Given the description of an element on the screen output the (x, y) to click on. 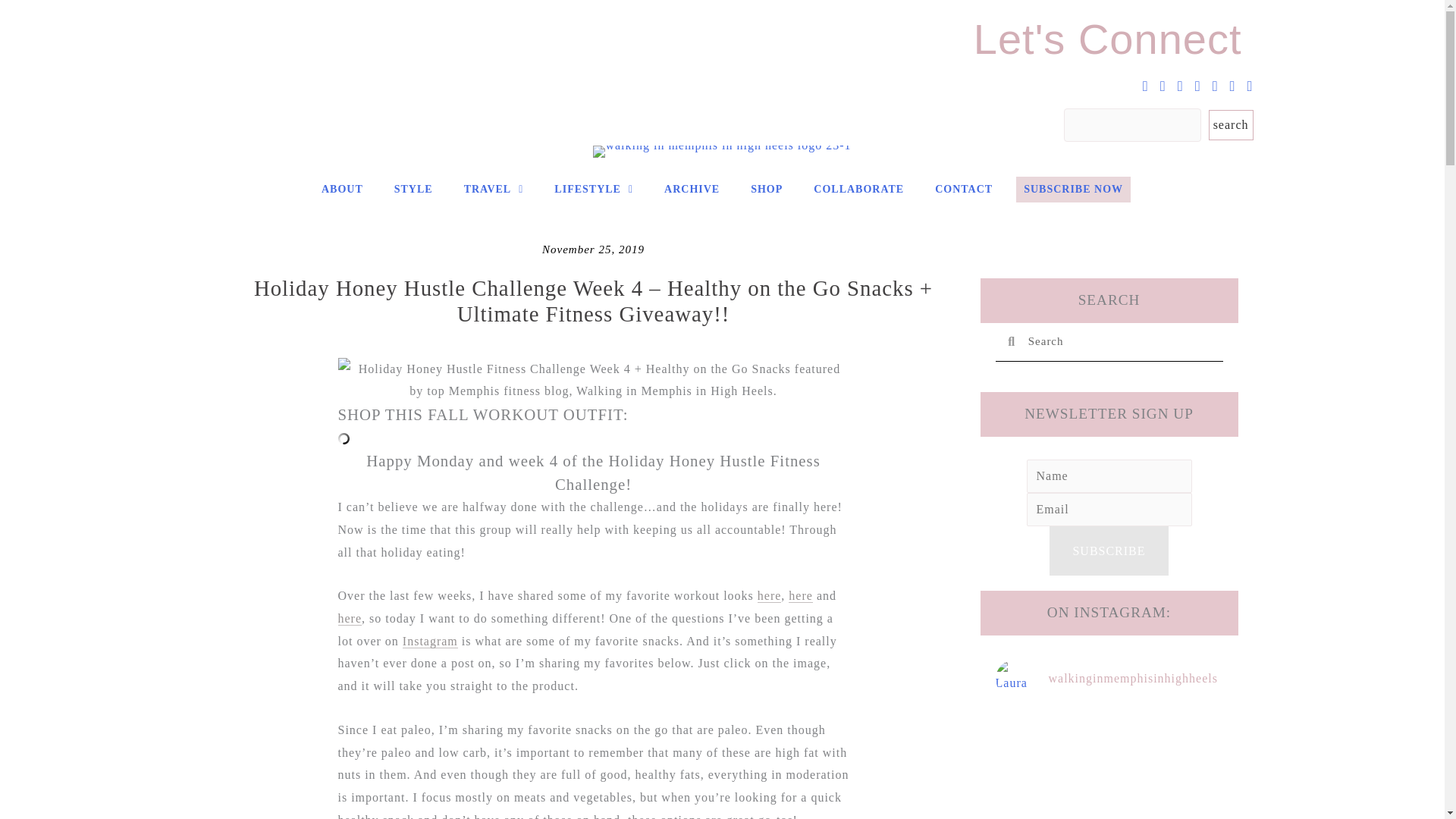
ARCHIVE (691, 189)
here (800, 595)
SUBSCRIBE NOW (1073, 189)
ABOUT (342, 189)
search (1230, 124)
here (769, 595)
Search (1118, 341)
here (349, 618)
CONTACT (963, 189)
SUBSCRIBE (1108, 551)
